Given the description of an element on the screen output the (x, y) to click on. 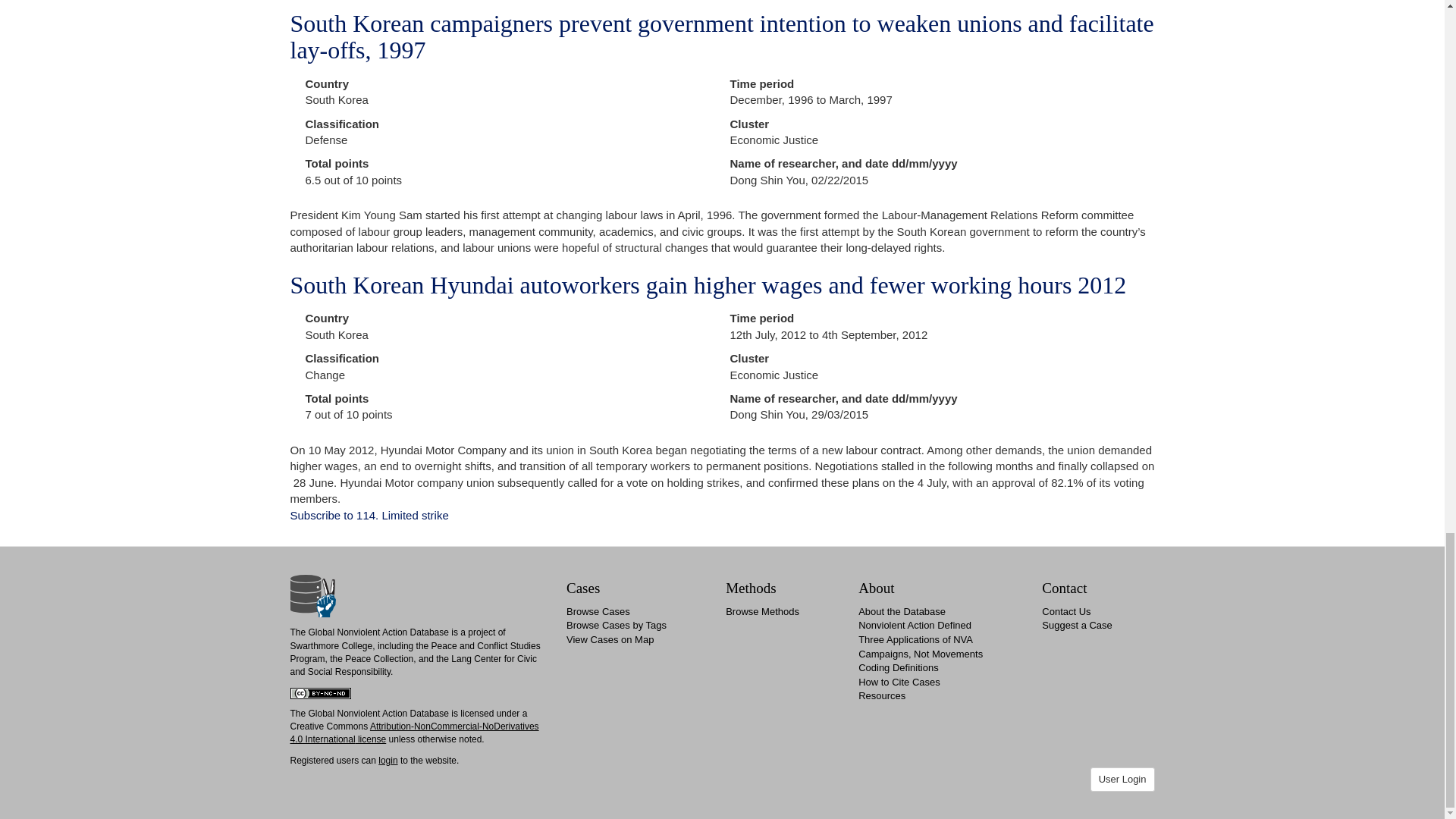
 license (371, 738)
login (387, 760)
Browse Cases (598, 611)
Subscribe to 114. Limited strike (368, 513)
Home (311, 594)
Attribution-NonCommercial-NoDerivatives 4.0 International (413, 732)
